Given the description of an element on the screen output the (x, y) to click on. 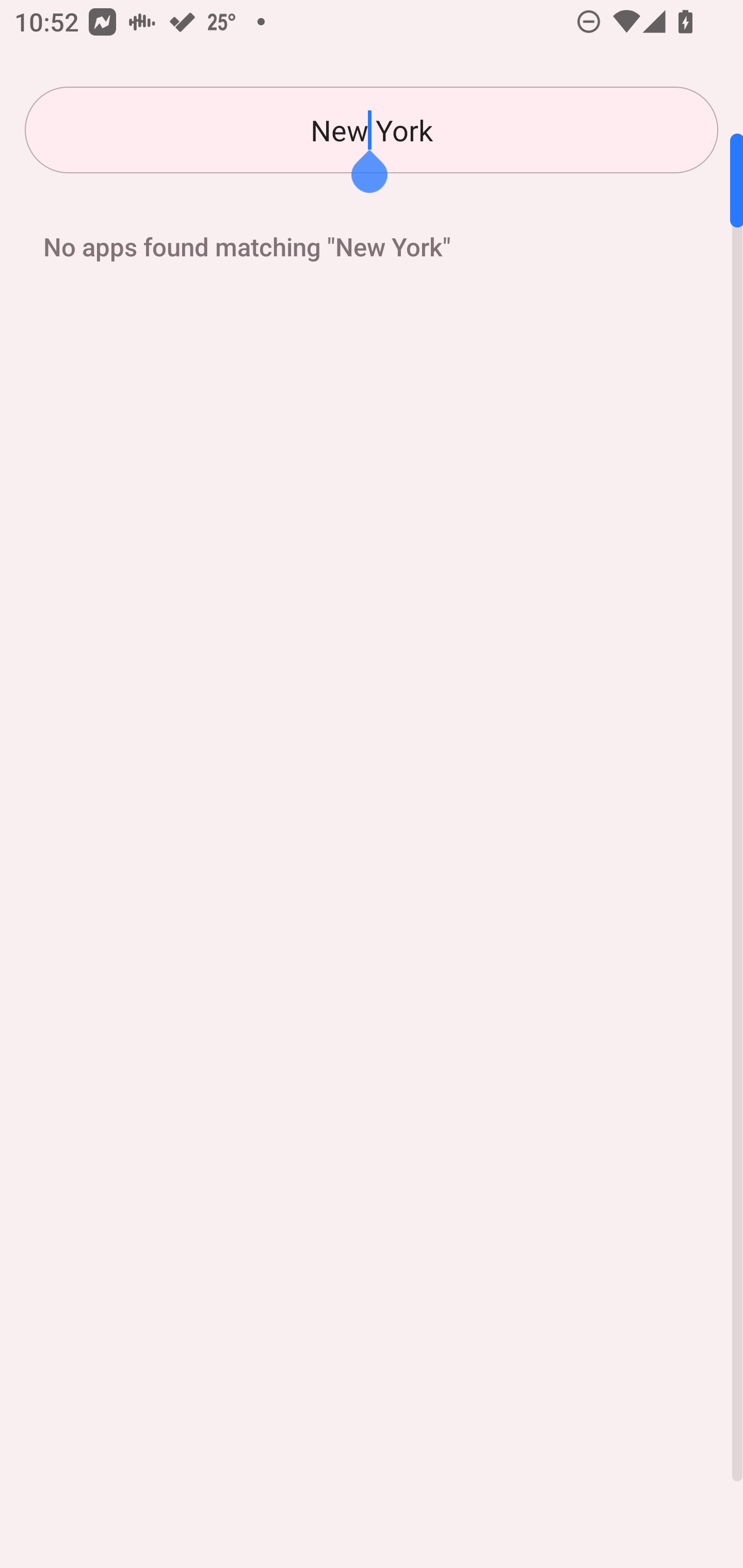
New York (371, 130)
